Given the description of an element on the screen output the (x, y) to click on. 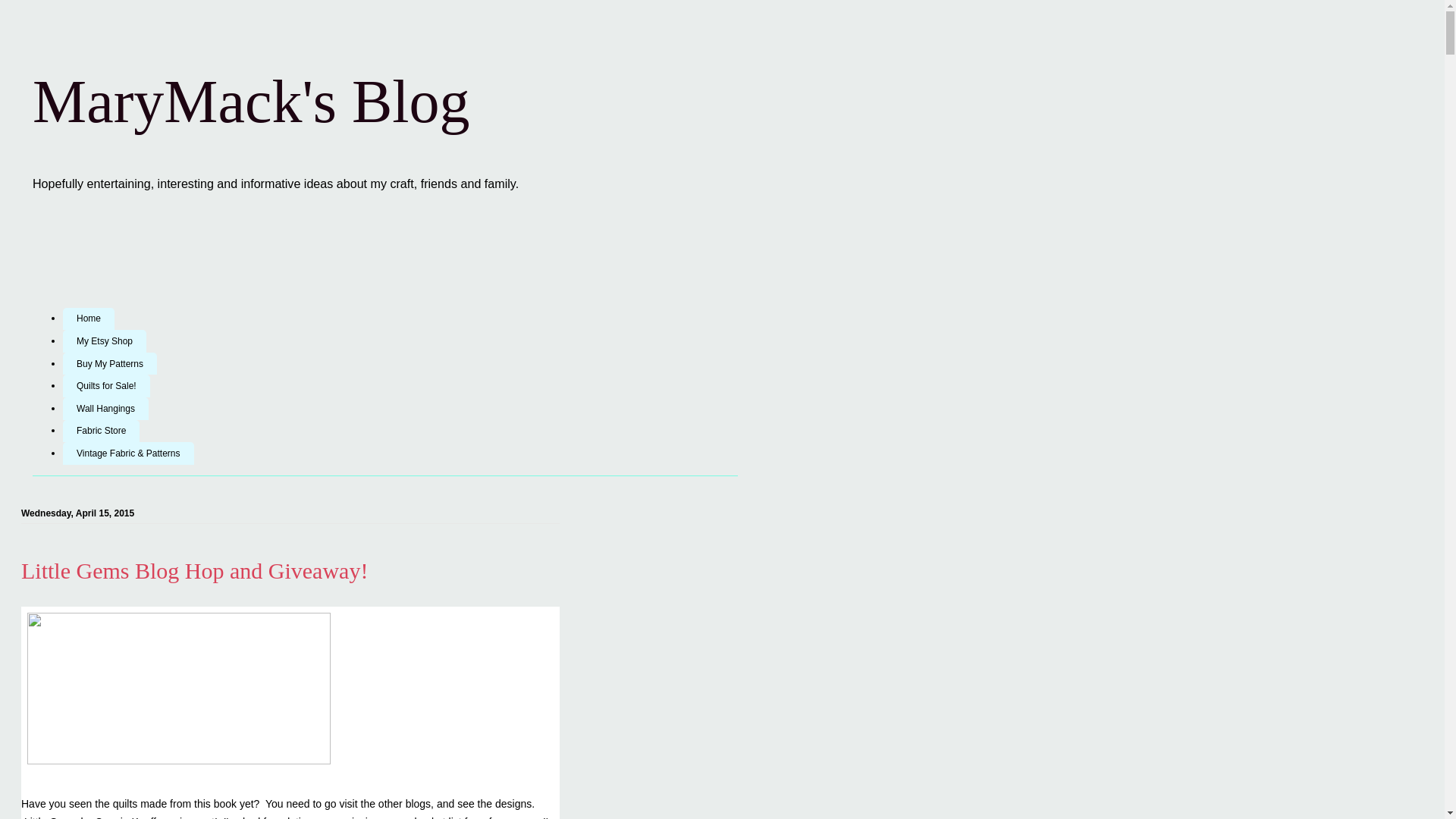
Fabric Store (100, 431)
Home (88, 318)
Buy My Patterns (109, 363)
My Etsy Shop (104, 341)
MaryMack's Blog (251, 101)
Wall Hangings (105, 408)
Quilts for Sale! (105, 385)
